Given the description of an element on the screen output the (x, y) to click on. 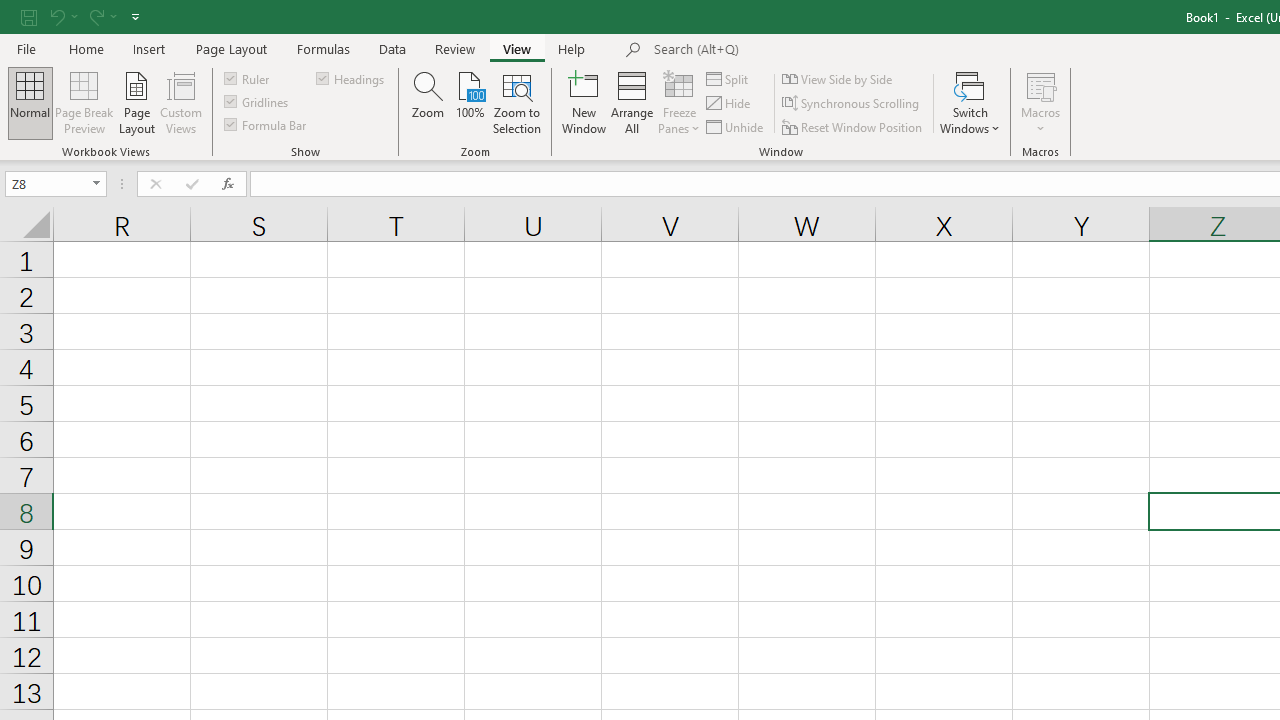
Zoom to Selection (517, 102)
Headings (351, 78)
Unhide... (736, 126)
Arrange All (632, 102)
Macros (1040, 102)
Ruler (248, 78)
Synchronous Scrolling (852, 103)
